Given the description of an element on the screen output the (x, y) to click on. 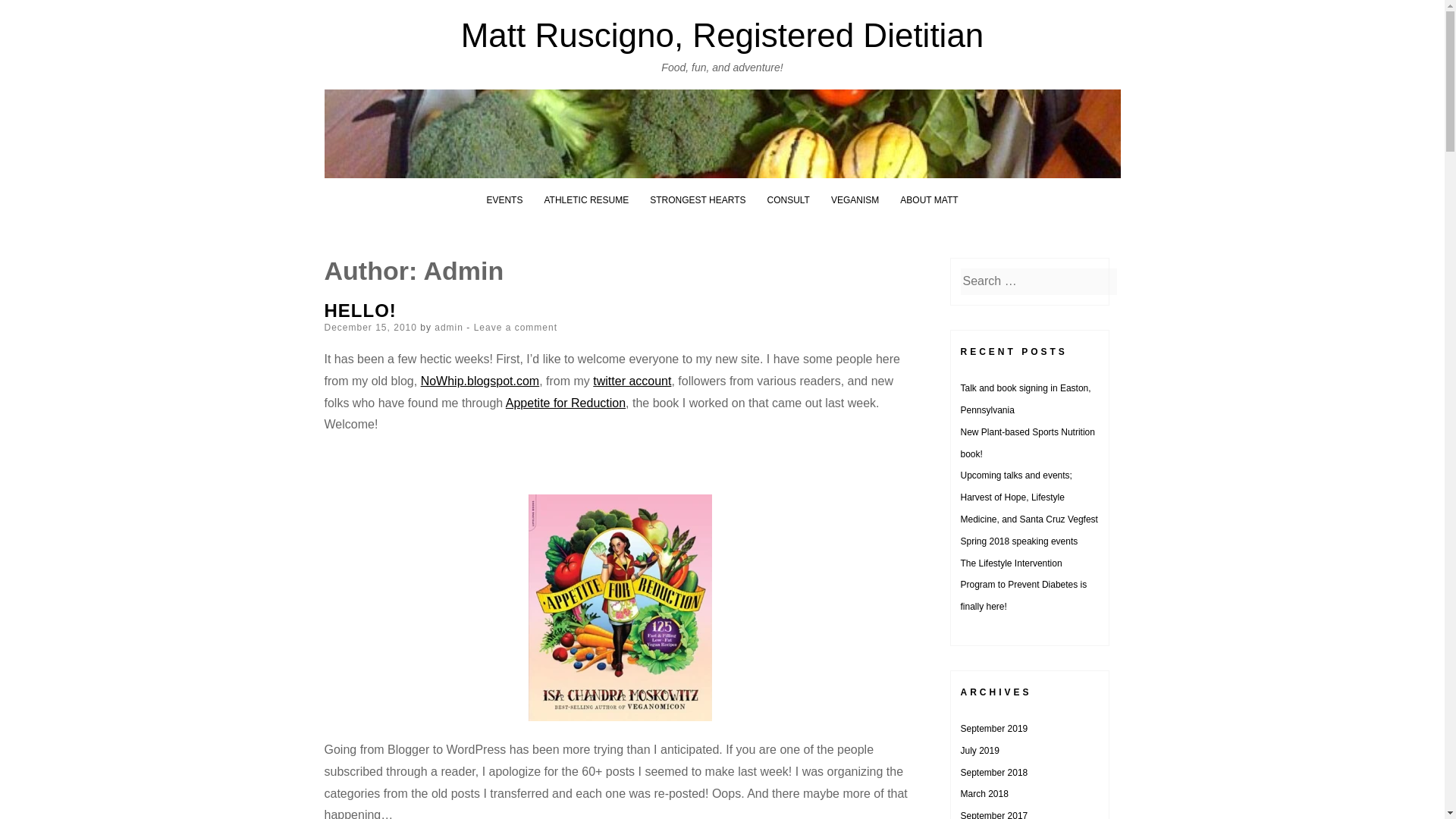
Leave a comment (515, 327)
VEGANISM (855, 199)
December 15, 2010 (370, 327)
Appetite for Reduction (565, 402)
Matt Ruscigno, Registered Dietitian (722, 35)
EVENTS (504, 199)
twitter account (631, 380)
Talk and book signing in Easton, Pennsylvania (1024, 399)
Search (29, 13)
NoWhip.blogspot.com (480, 380)
